Given the description of an element on the screen output the (x, y) to click on. 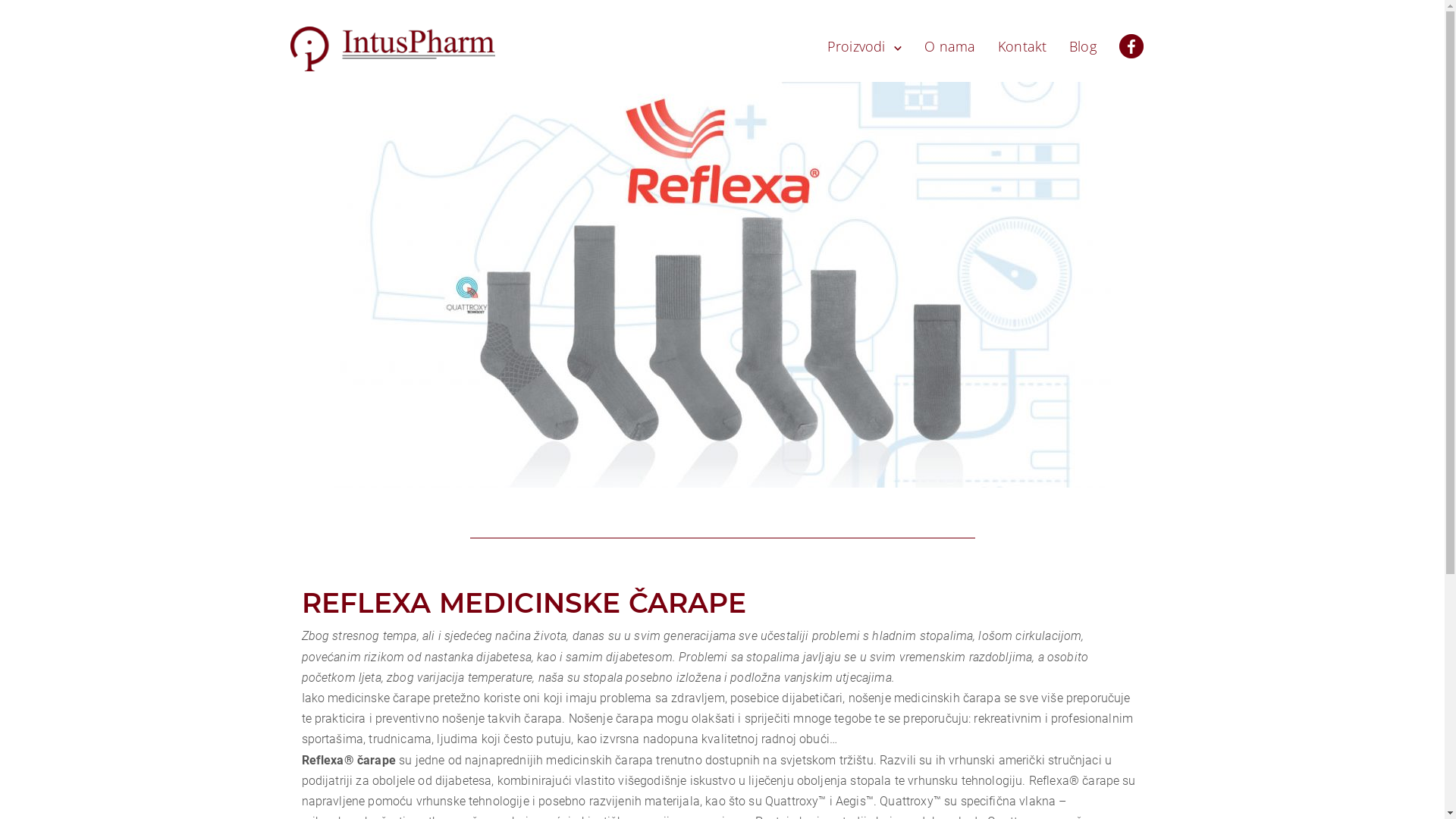
Blog Element type: text (1082, 45)
O nama Element type: text (949, 45)
Vizual-Post Element type: hover (721, 284)
Proizvodi Element type: text (864, 45)
Kontakt Element type: text (1021, 45)
